Given the description of an element on the screen output the (x, y) to click on. 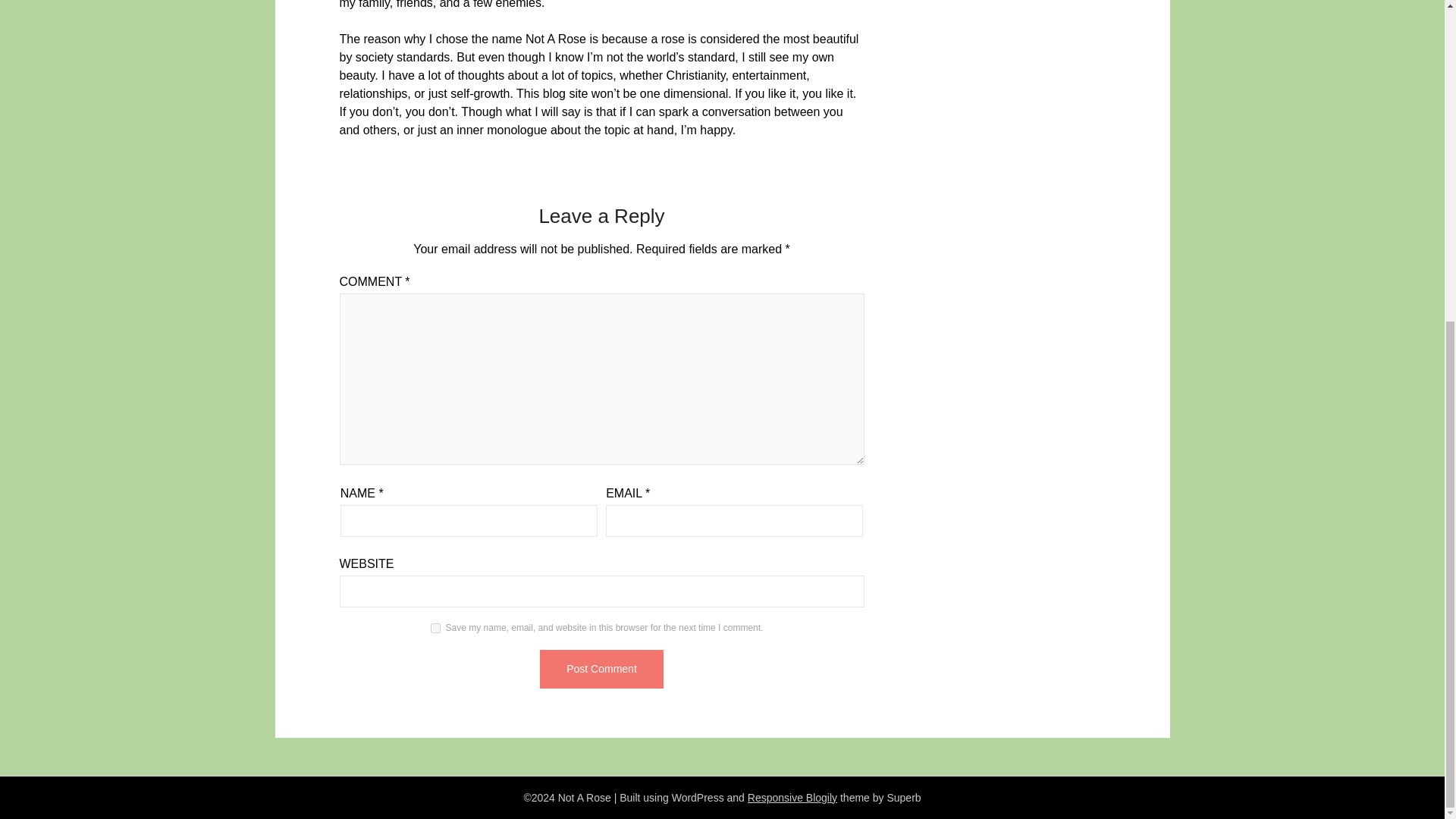
Responsive Blogily (792, 797)
Post Comment (601, 669)
Post Comment (601, 669)
yes (435, 628)
